Given the description of an element on the screen output the (x, y) to click on. 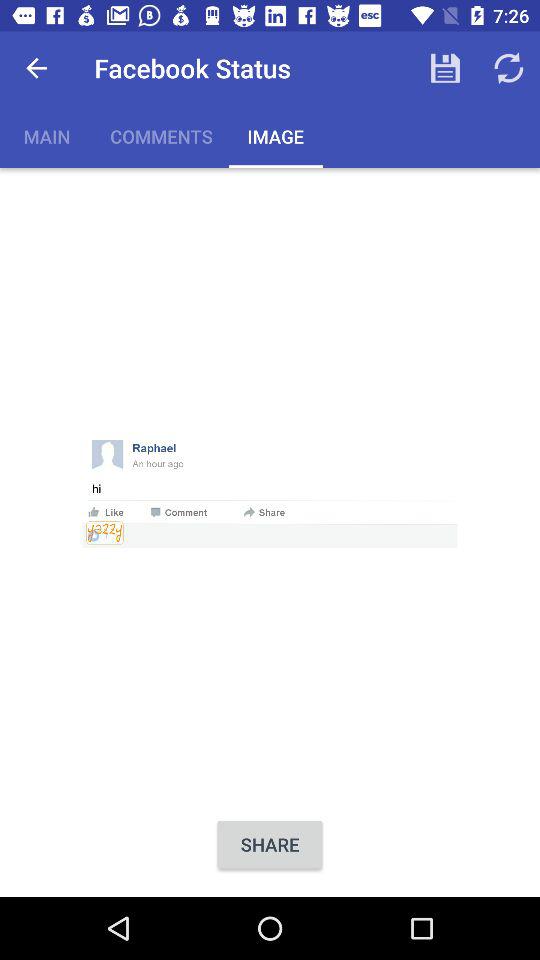
turn off icon to the right of the facebook status (444, 67)
